Given the description of an element on the screen output the (x, y) to click on. 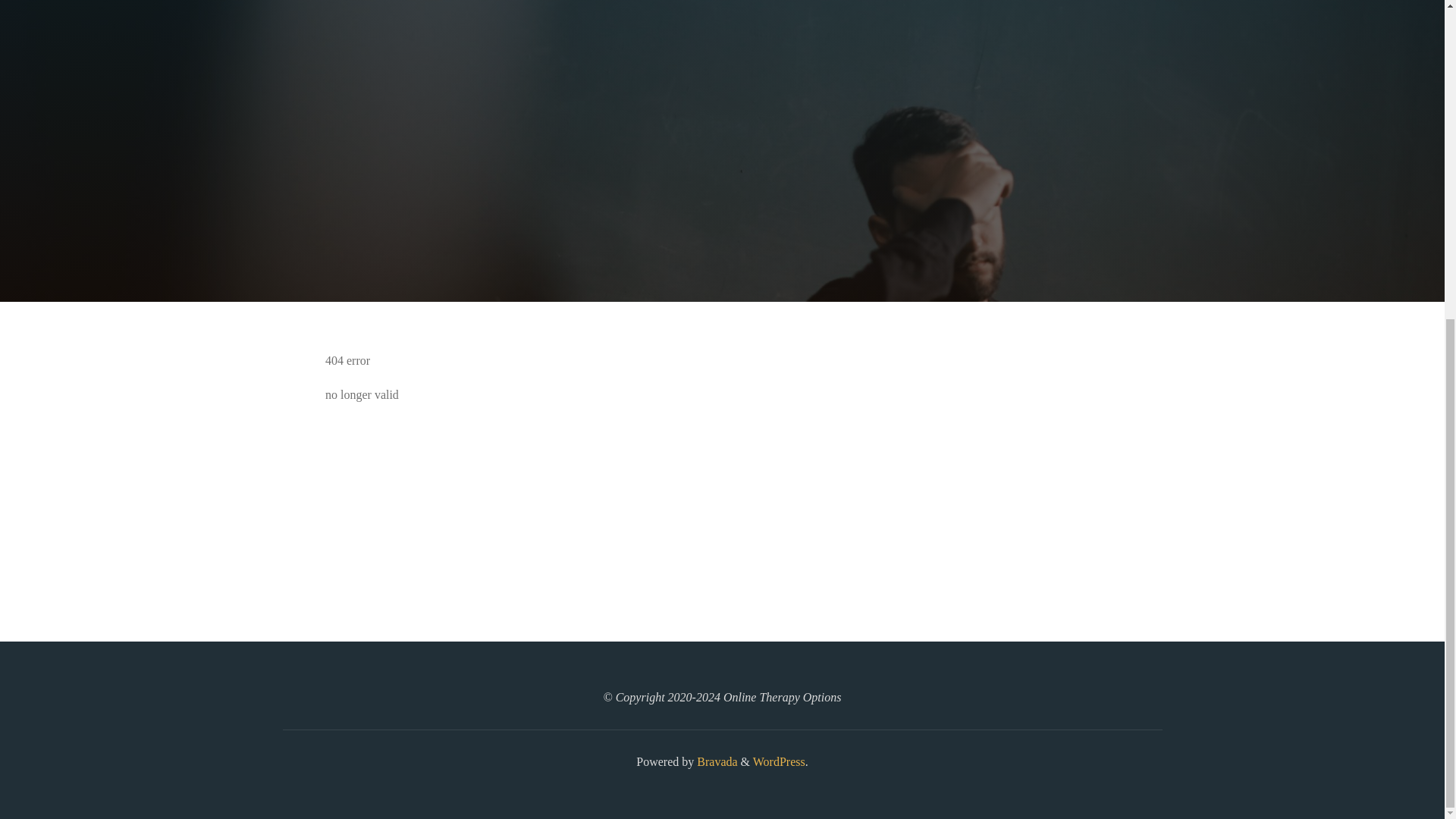
Bravada (715, 761)
Semantic Personal Publishing Platform (778, 761)
WordPress (778, 761)
Bravada WordPress Theme by Cryout Creations (715, 761)
Read more (721, 207)
